Given the description of an element on the screen output the (x, y) to click on. 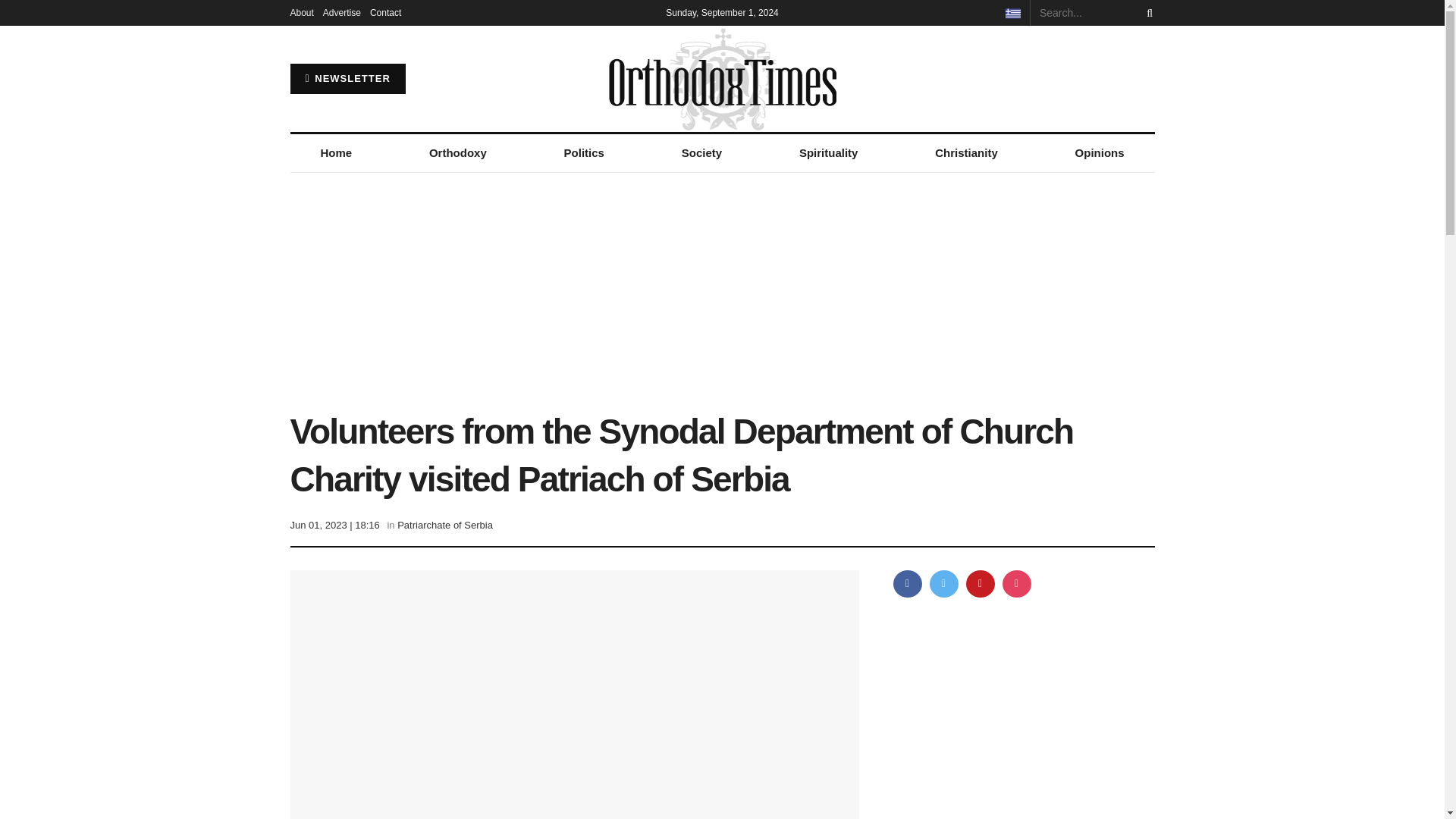
Politics (584, 152)
NEWSLETTER (346, 78)
Spirituality (828, 152)
Orthodoxy (457, 152)
About (301, 12)
Home (335, 152)
Society (701, 152)
Contact (385, 12)
Advertise (342, 12)
